Given the description of an element on the screen output the (x, y) to click on. 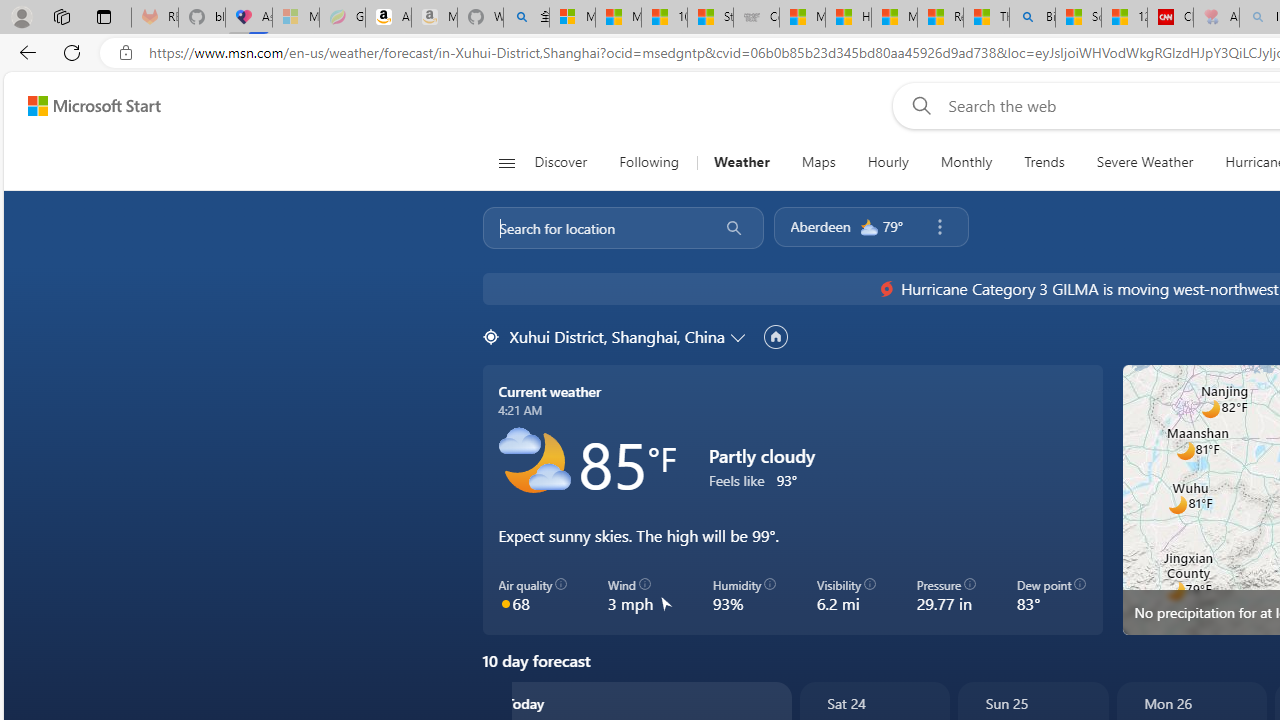
How I Got Rid of Microsoft Edge's Unnecessary Features (848, 17)
Remove location (939, 227)
Arthritis: Ask Health Professionals - Sleeping (1216, 17)
Change location (739, 336)
Hourly (887, 162)
Temperature (1191, 396)
Asthma Inhalers: Names and Types (249, 17)
12 Popular Science Lies that Must be Corrected (1124, 17)
Maps (65, 572)
